Given the description of an element on the screen output the (x, y) to click on. 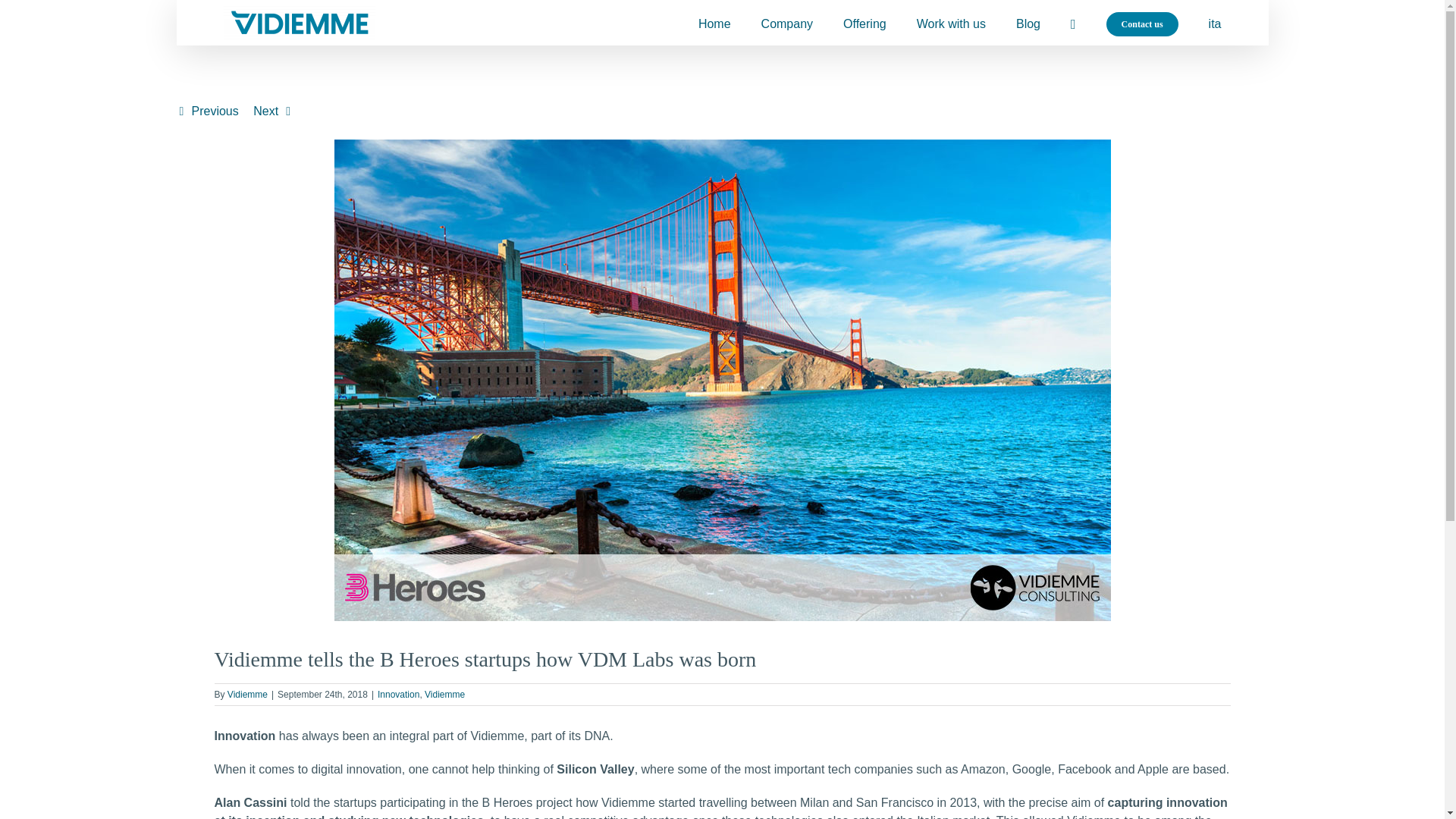
Contact us (1141, 22)
Company (786, 22)
Posts by Vidiemme (247, 694)
Work with us (951, 22)
Offering (864, 22)
